Given the description of an element on the screen output the (x, y) to click on. 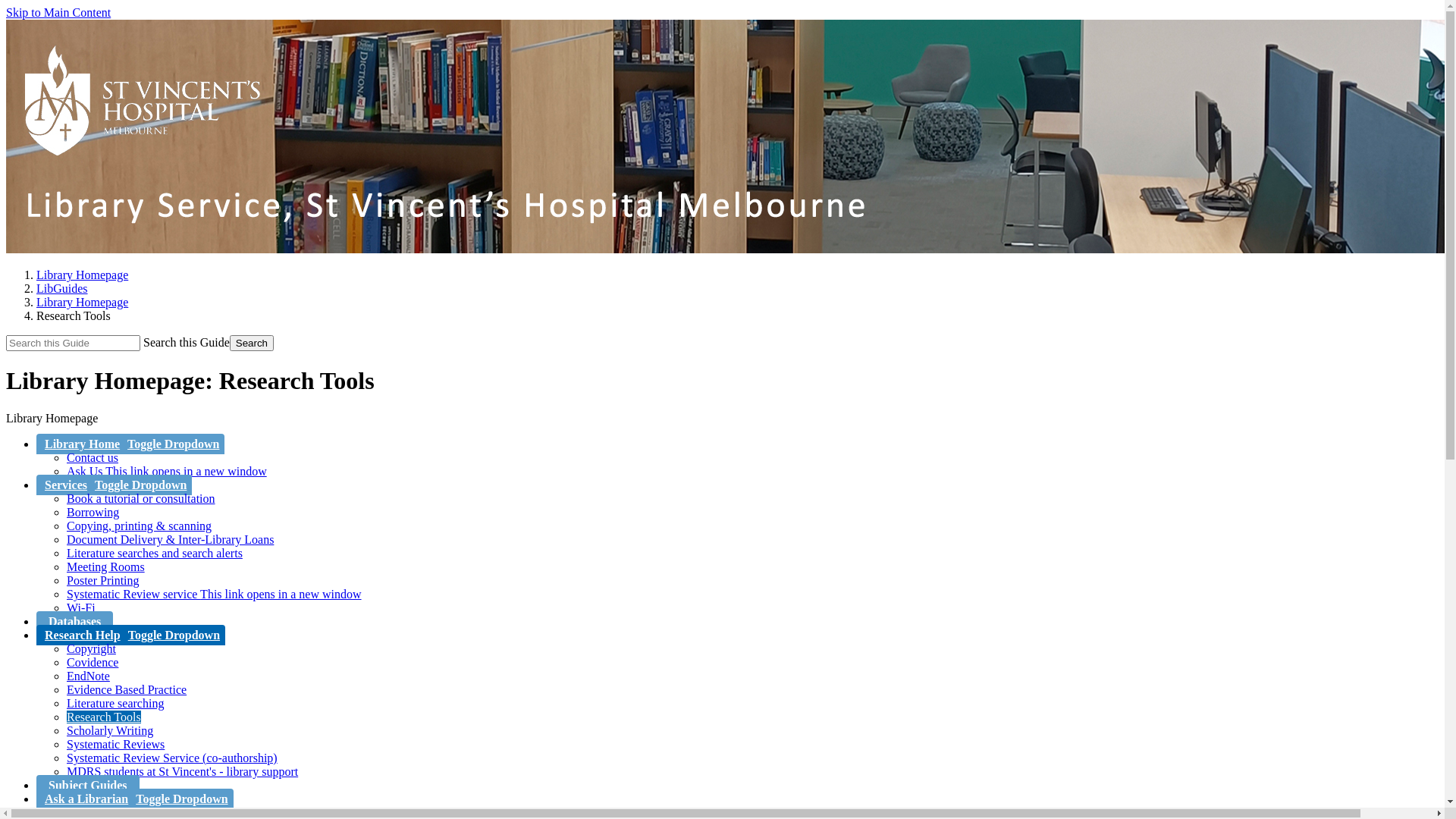
Ask Us This link opens in a new window Element type: text (166, 470)
Copying, printing & scanning Element type: text (138, 525)
Systematic Reviews Element type: text (115, 743)
LibGuides Element type: text (61, 288)
Copyright Element type: text (91, 648)
Databases Element type: text (74, 621)
MDRS students at St Vincent's - library support Element type: text (182, 771)
Toggle Dropdown Element type: text (174, 443)
Toggle Dropdown Element type: text (141, 484)
Meeting Rooms Element type: text (105, 566)
Scholarly Writing Element type: text (109, 730)
Toggle Dropdown Element type: text (175, 634)
Book a tutorial or consultation Element type: text (140, 498)
Search Element type: text (251, 343)
Borrowing Element type: text (92, 511)
EndNote Element type: text (87, 675)
Research Tools Element type: text (103, 716)
Literature searching Element type: text (114, 702)
Systematic Review service This link opens in a new window Element type: text (213, 593)
Contact us Element type: text (92, 457)
Literature searches and search alerts Element type: text (154, 552)
Library Homepage Element type: text (82, 274)
Skip to Main Content Element type: text (58, 12)
Document Delivery & Inter-Library Loans Element type: text (169, 539)
Systematic Review Service (co-authorship) Element type: text (171, 757)
Evidence Based Practice Element type: text (126, 689)
Library Homepage Element type: text (82, 301)
Toggle Dropdown Element type: text (182, 798)
Ask a Librarian Element type: text (84, 798)
Services Element type: text (63, 484)
Wi-Fi Element type: text (80, 607)
Covidence Element type: text (92, 661)
Research Help Element type: text (80, 634)
Library Home Element type: text (80, 443)
Subject Guides Element type: text (87, 785)
Poster Printing Element type: text (102, 580)
